Given the description of an element on the screen output the (x, y) to click on. 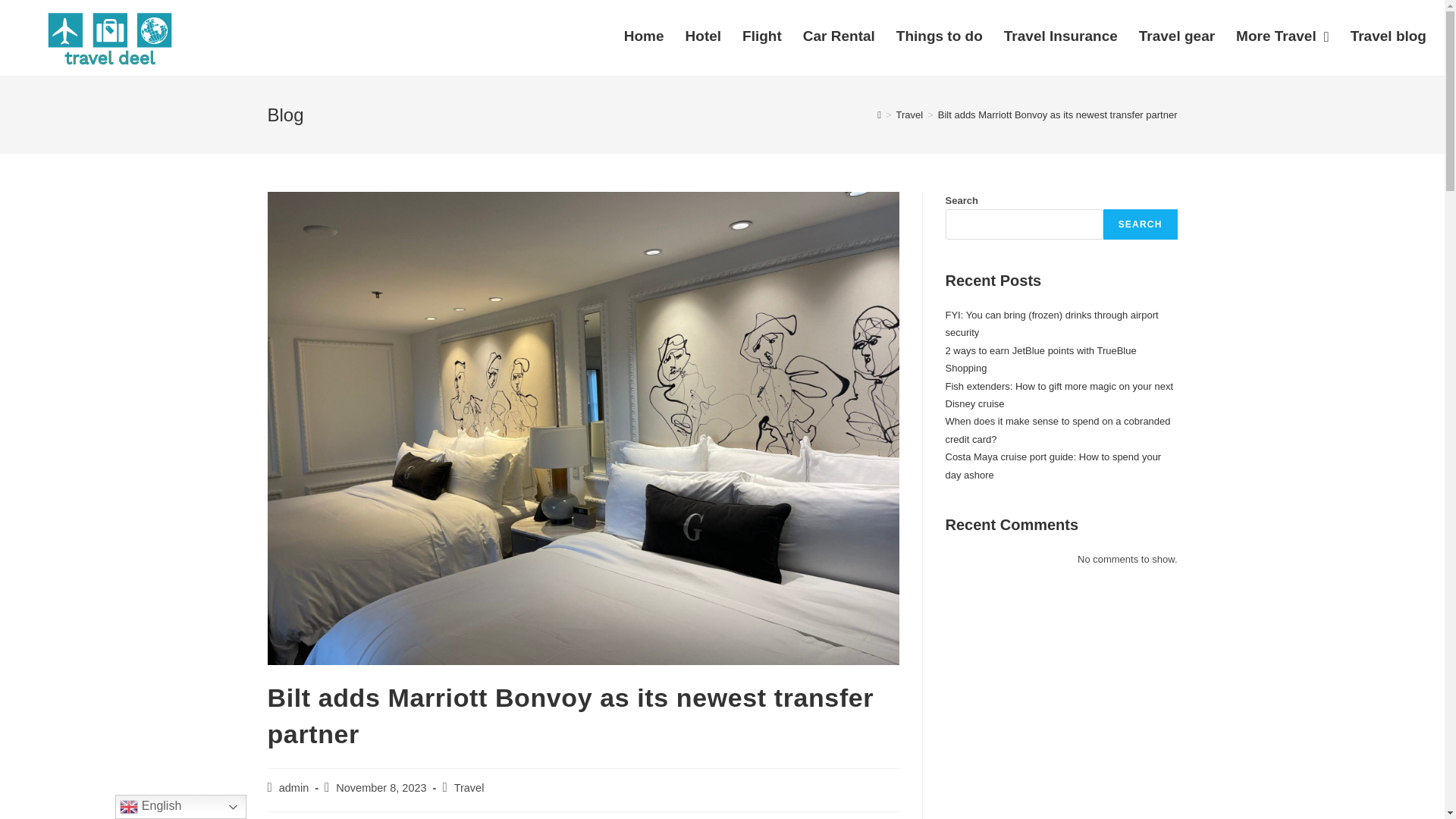
Travel blog (1388, 36)
Posts by admin (293, 787)
Travel (469, 787)
Travel (909, 114)
Car Rental (838, 36)
Bilt adds Marriott Bonvoy as its newest transfer partner (1057, 114)
Things to do (938, 36)
More Travel (1282, 36)
admin (293, 787)
Hotel (703, 36)
